Given the description of an element on the screen output the (x, y) to click on. 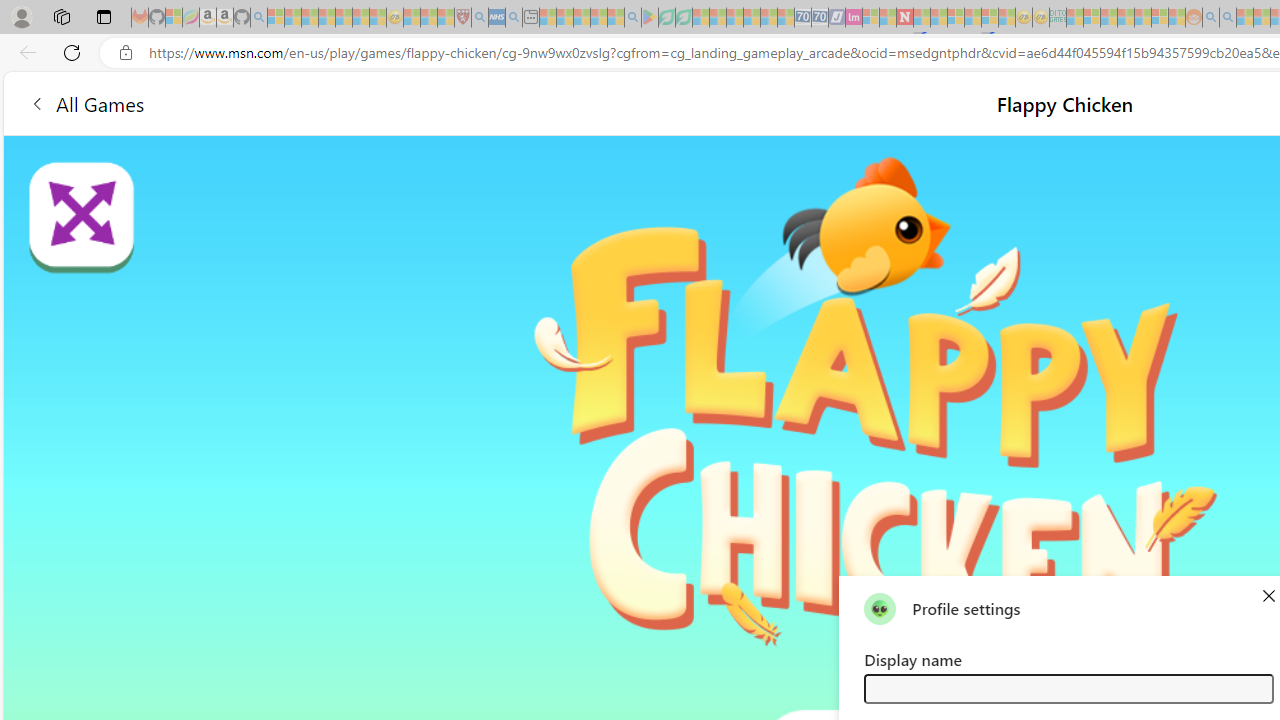
utah sues federal government - Search - Sleeping (513, 17)
""'s avatar (880, 608)
